Given the description of an element on the screen output the (x, y) to click on. 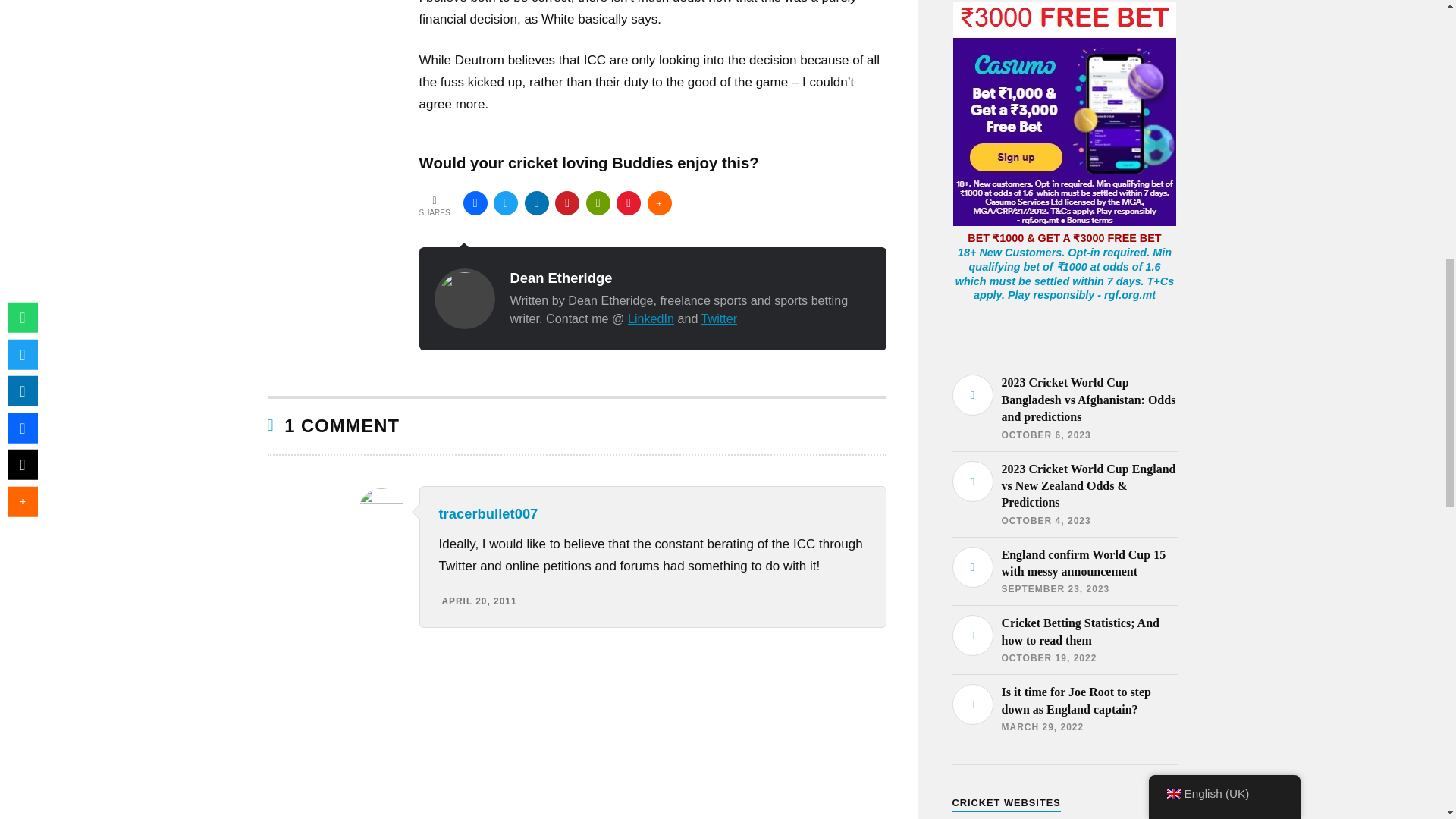
Add this to LinkedIn (536, 202)
Tweet this ! (505, 202)
Convert to PDF (627, 202)
More share links (659, 202)
Share this on Facebook (475, 202)
Submit this to Pinterest (566, 202)
Print this article  (598, 202)
